Given the description of an element on the screen output the (x, y) to click on. 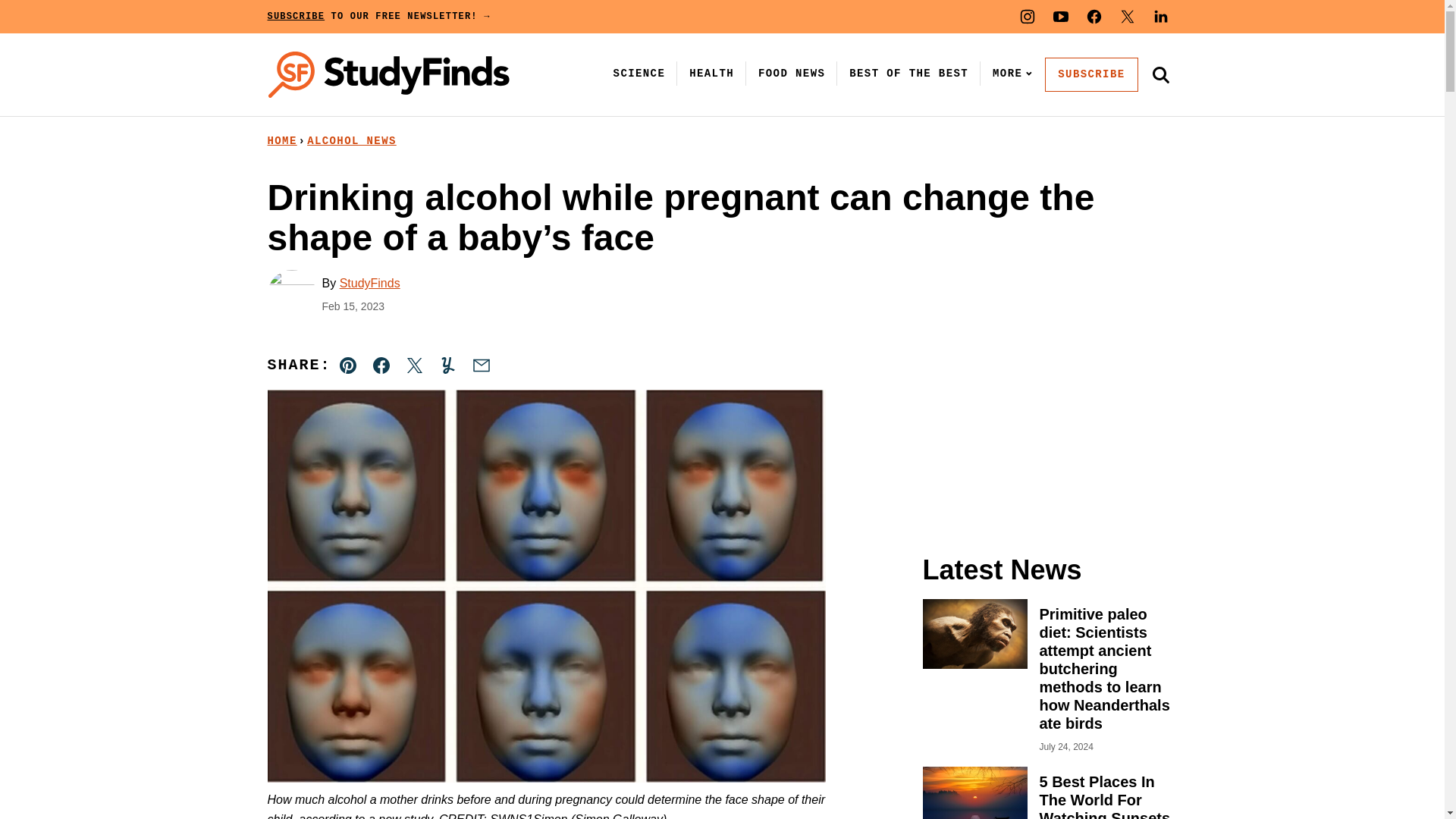
SCIENCE (639, 73)
Share via Email (480, 365)
FOOD NEWS (791, 73)
Share on Twitter (413, 365)
HOME (281, 141)
ALCOHOL NEWS (351, 141)
Share on Yummly (447, 365)
BEST OF THE BEST (908, 73)
Share on Pinterest (348, 365)
Share on Facebook (381, 365)
MORE (1009, 73)
SUBSCRIBE (1091, 74)
HEALTH (711, 73)
